Given the description of an element on the screen output the (x, y) to click on. 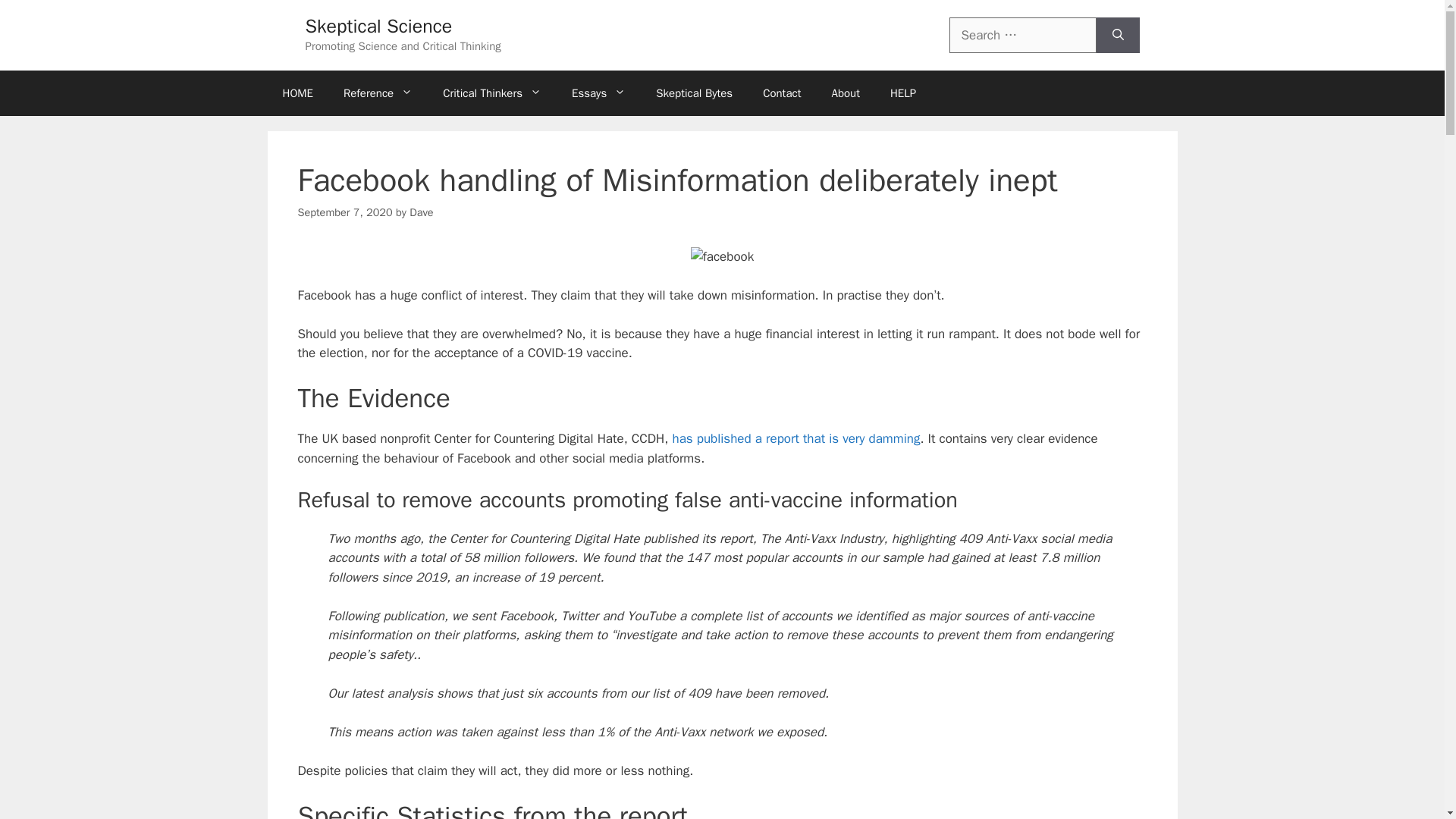
Critical Thinkers (492, 92)
Essays (598, 92)
Search for: (1022, 34)
HOME (296, 92)
has published a report that is very damming (795, 438)
Skeptical Science (377, 25)
View all posts by Dave (420, 212)
About (845, 92)
Reference (378, 92)
